Given the description of an element on the screen output the (x, y) to click on. 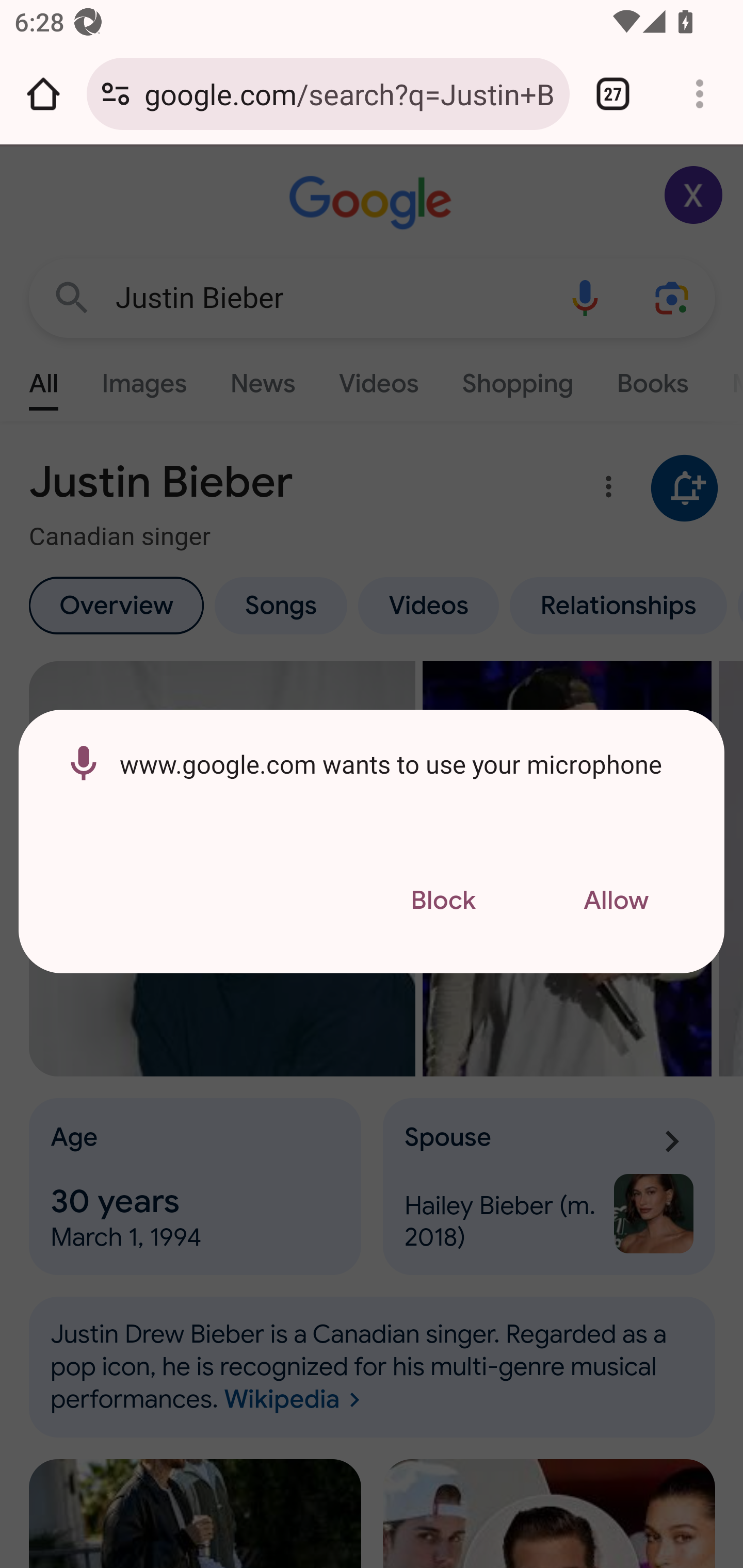
Open the home page (43, 93)
Connection is secure (115, 93)
Switch or close tabs (612, 93)
Customize and control Google Chrome (699, 93)
Block (442, 900)
Allow (615, 900)
